Given the description of an element on the screen output the (x, y) to click on. 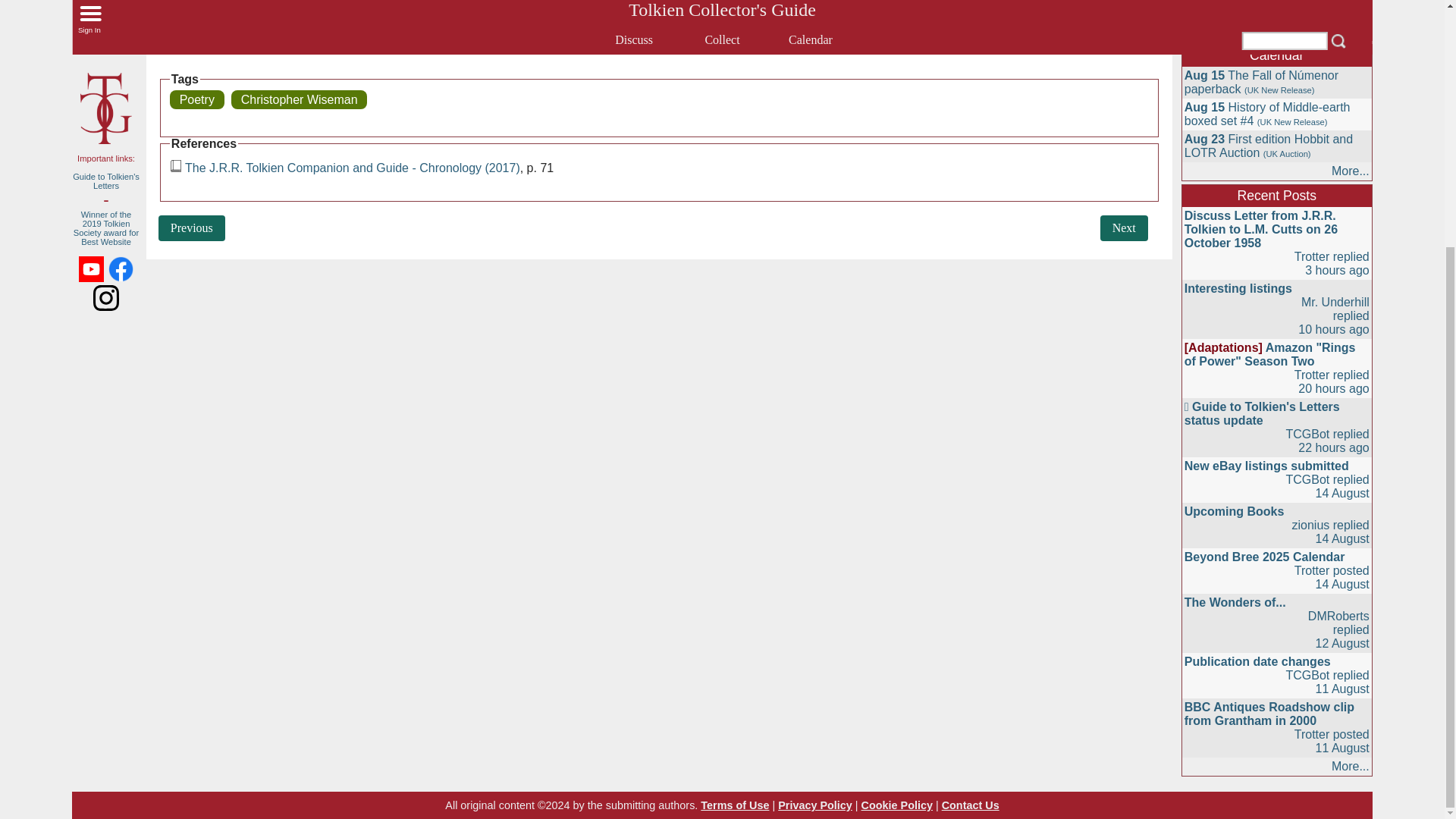
Gorringes Auction - 1st Edition Hobbit and LOTR lots (1273, 23)
On This Day (1276, 4)
Poetry (197, 99)
Christopher Wiseman (298, 99)
1227: G.B. Smith to J.R.R. Tolkien (191, 227)
1241: G.B. Smith to J.R.R. Tolkien (1124, 227)
Previous (191, 227)
book (176, 165)
Next (1124, 227)
